Given the description of an element on the screen output the (x, y) to click on. 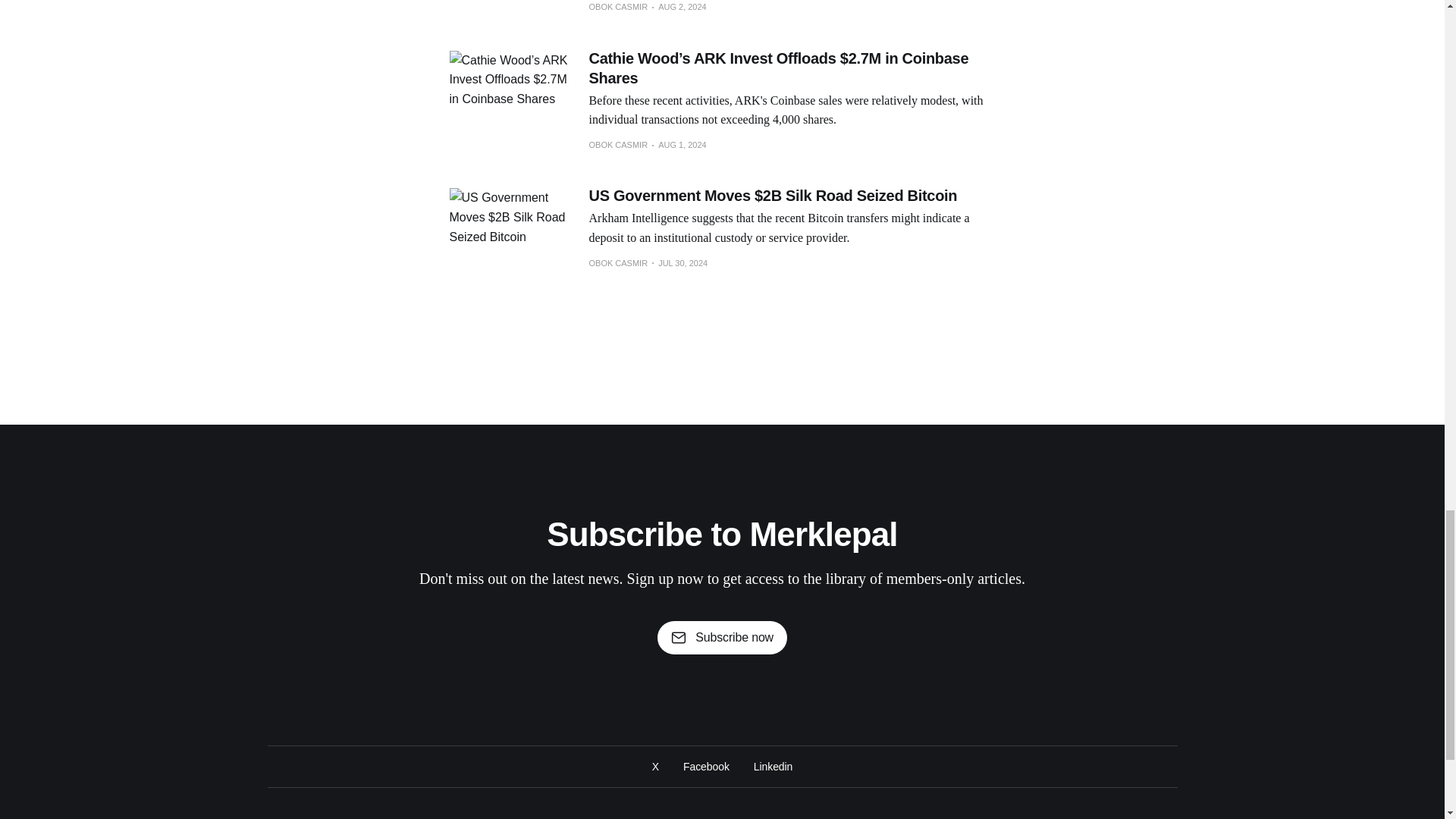
Facebook (705, 766)
Linkedin (773, 766)
Subscribe now (722, 637)
